Given the description of an element on the screen output the (x, y) to click on. 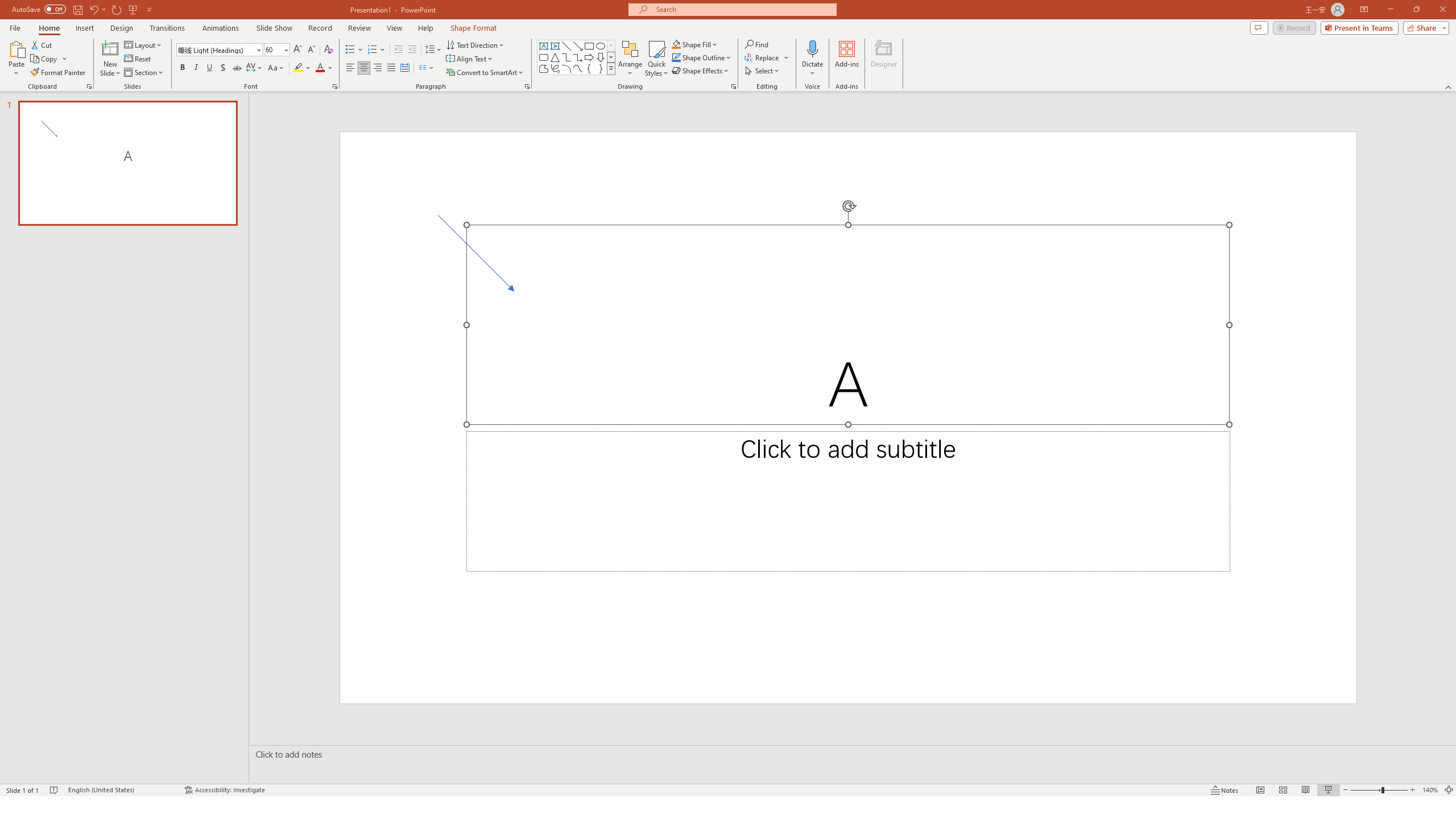
Zoom 140% (1430, 790)
